Given the description of an element on the screen output the (x, y) to click on. 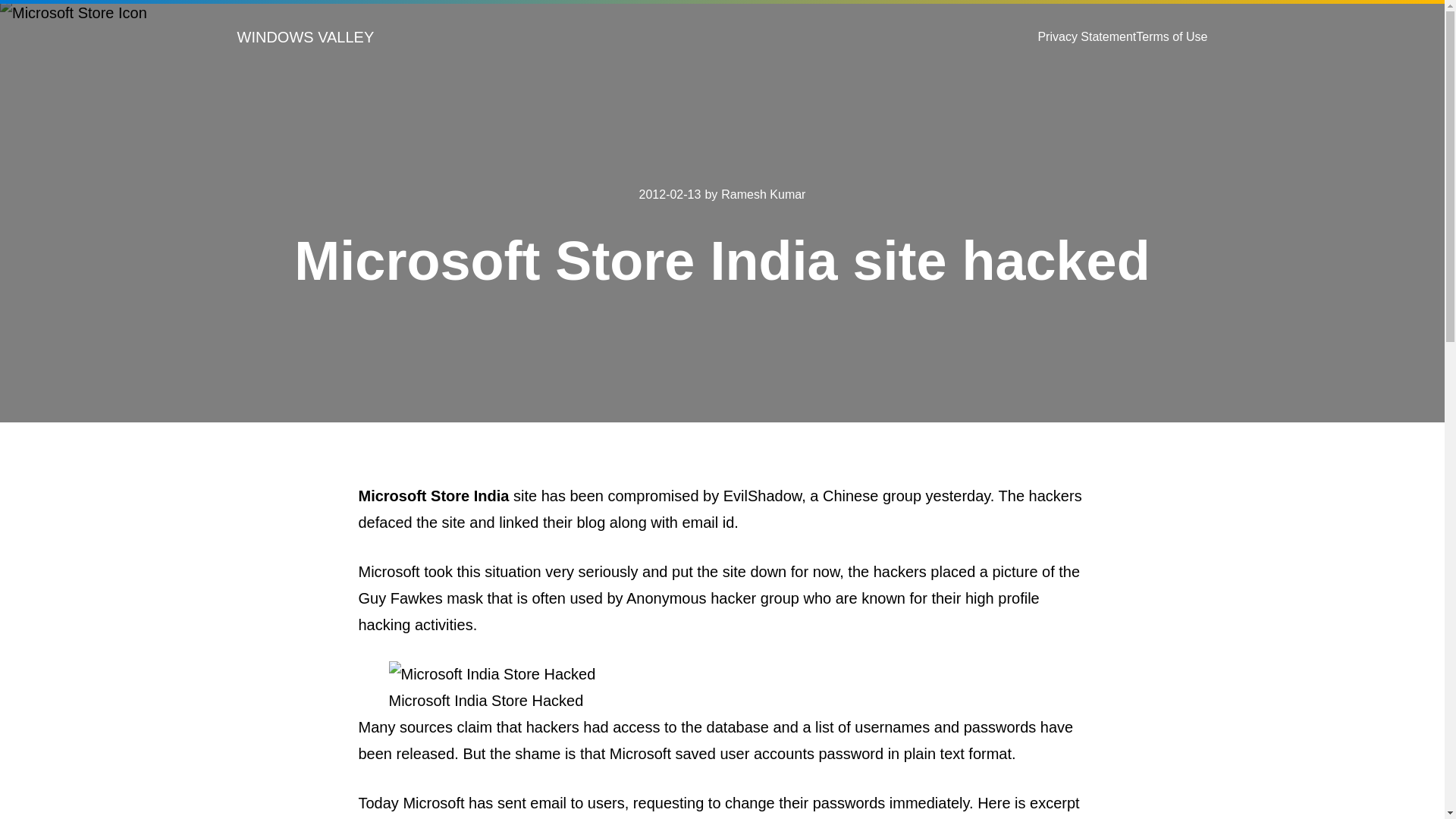
Terms of Use (1171, 36)
WINDOWS VALLEY (304, 36)
Microsoft India Store Hacked (491, 673)
Privacy Statement (1085, 36)
